Given the description of an element on the screen output the (x, y) to click on. 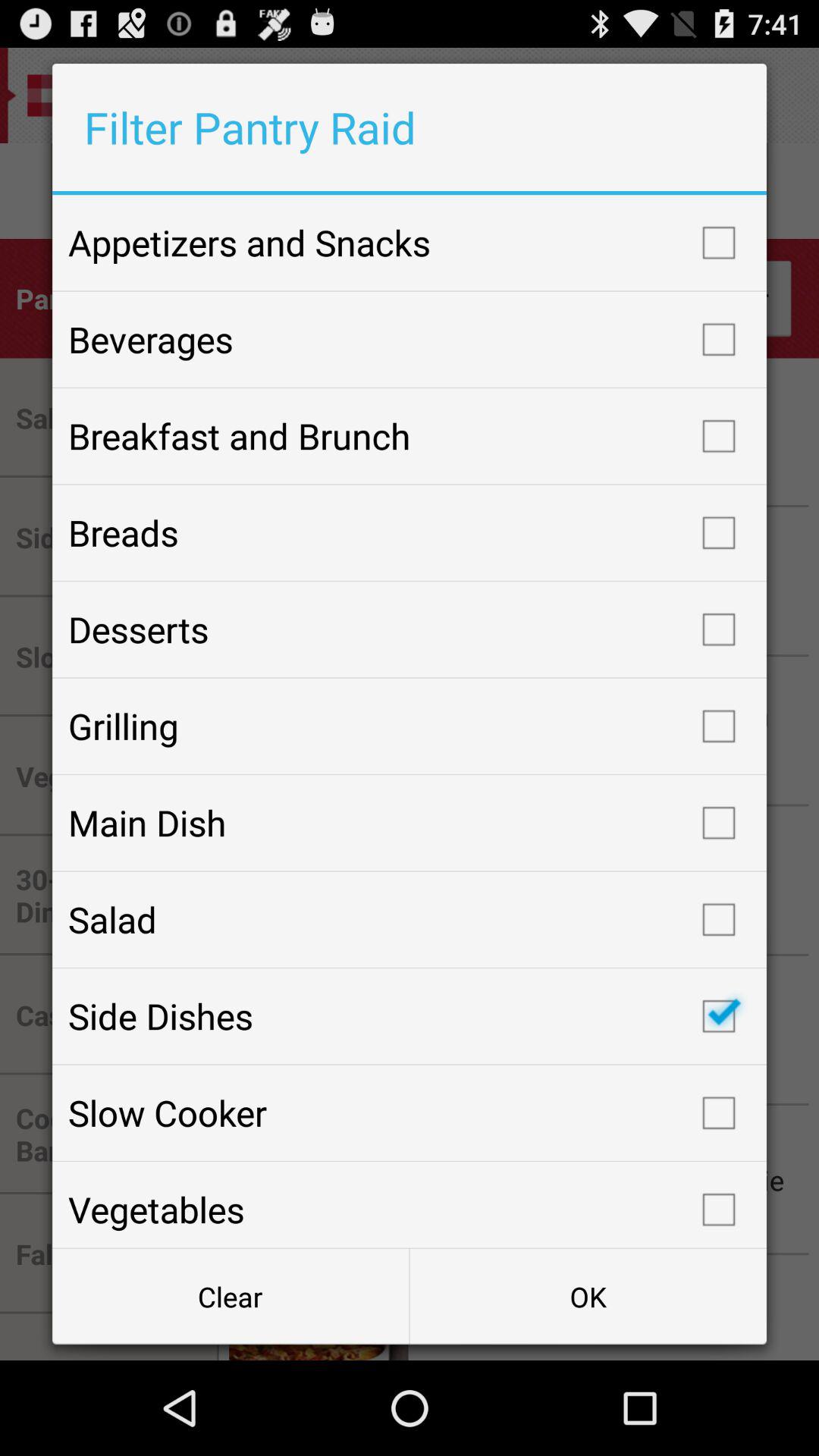
open the button next to the ok item (230, 1296)
